Given the description of an element on the screen output the (x, y) to click on. 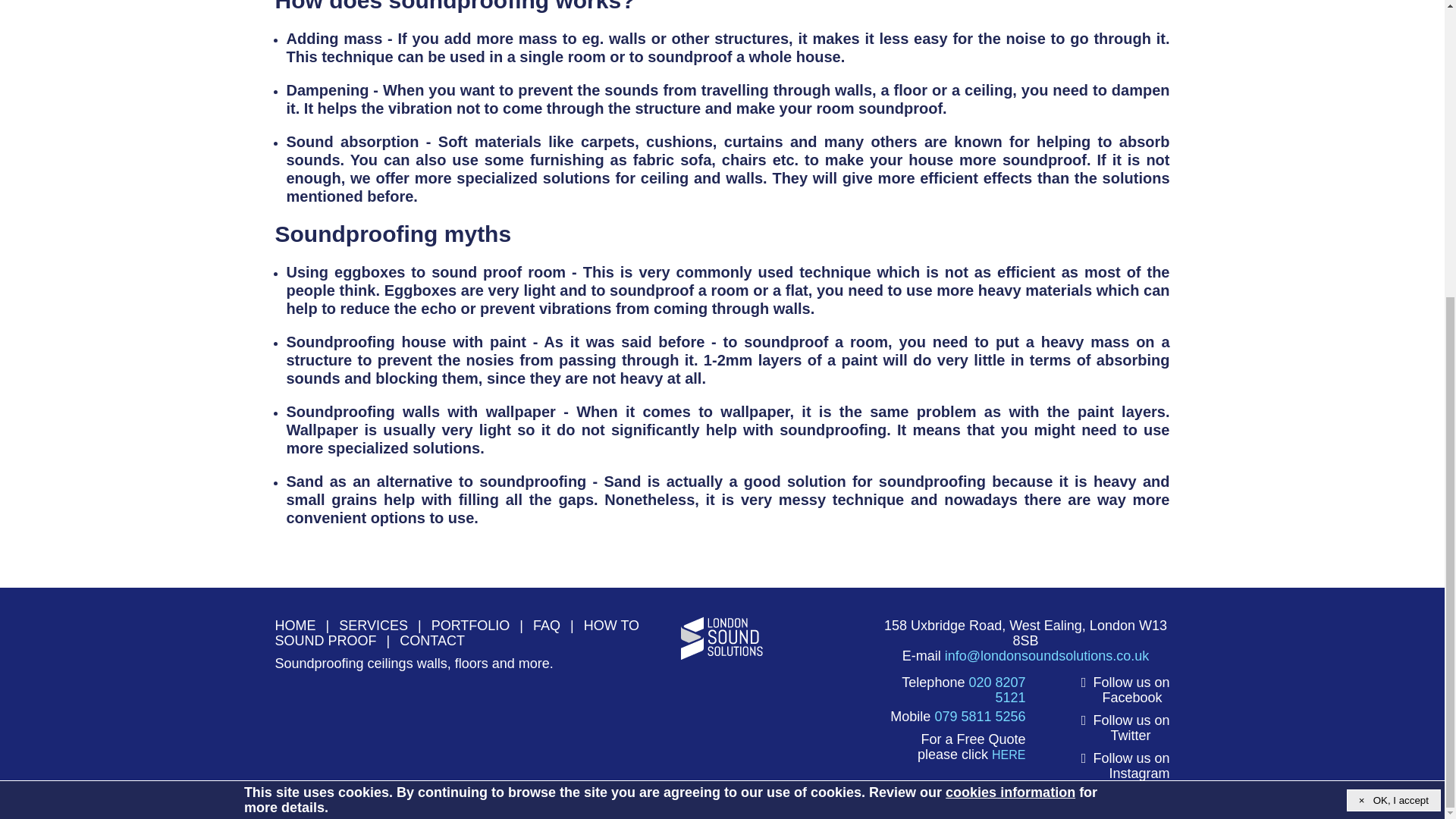
HOW TO SOUND PROOF (457, 633)
SERVICES (373, 625)
Free quote (1008, 754)
HOME (295, 625)
Follow us on Facebook (1131, 689)
Contact us (431, 640)
Follow us on Instagram (1131, 766)
Home page (295, 625)
FAQ (546, 625)
How to sound proof Page (457, 633)
PORTFOLIO (470, 625)
Services (373, 625)
FAQ Page (546, 625)
Portfolio (470, 625)
CONTACT (431, 640)
